Given the description of an element on the screen output the (x, y) to click on. 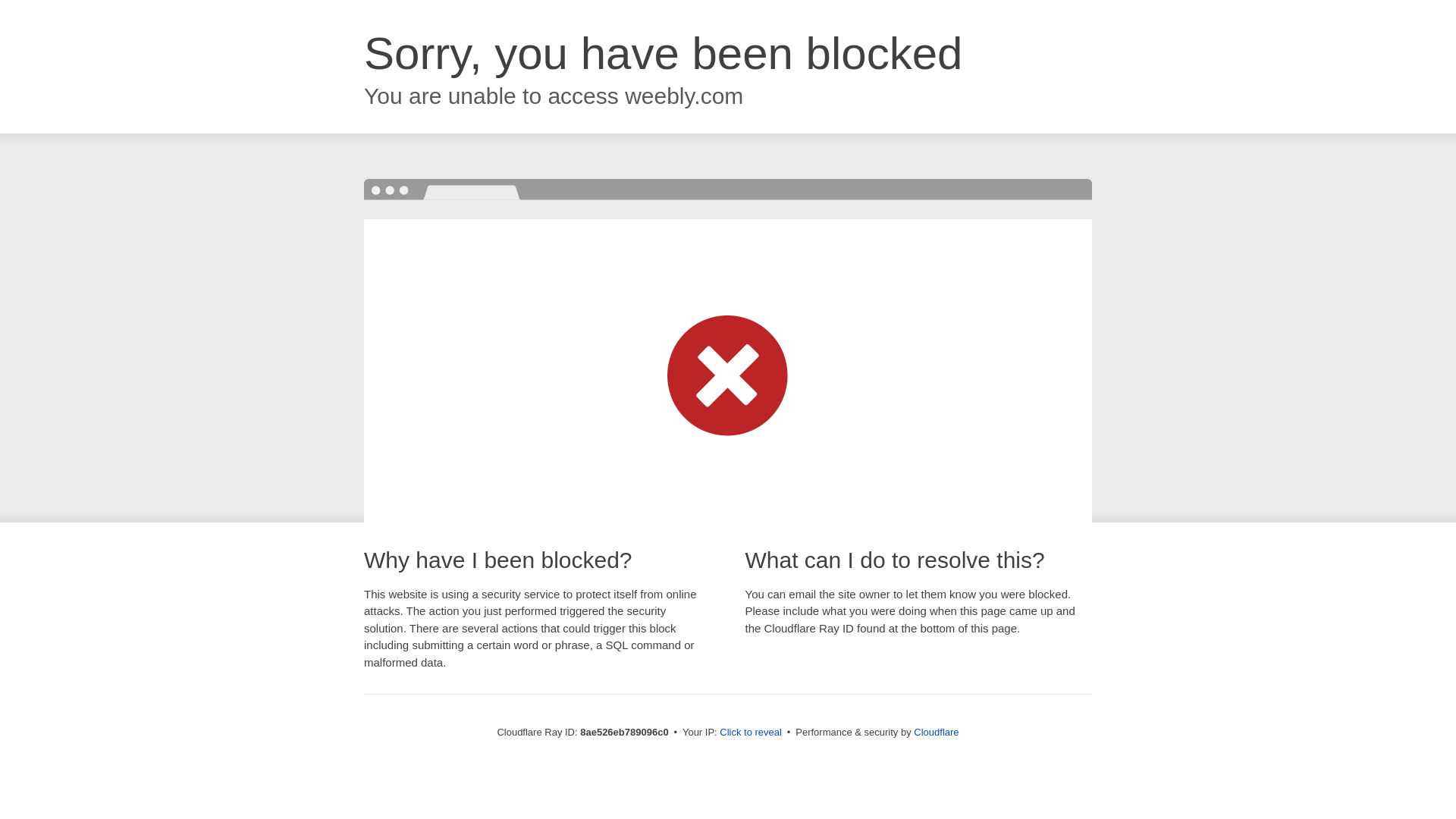
Click to reveal (750, 732)
Cloudflare (936, 731)
